Given the description of an element on the screen output the (x, y) to click on. 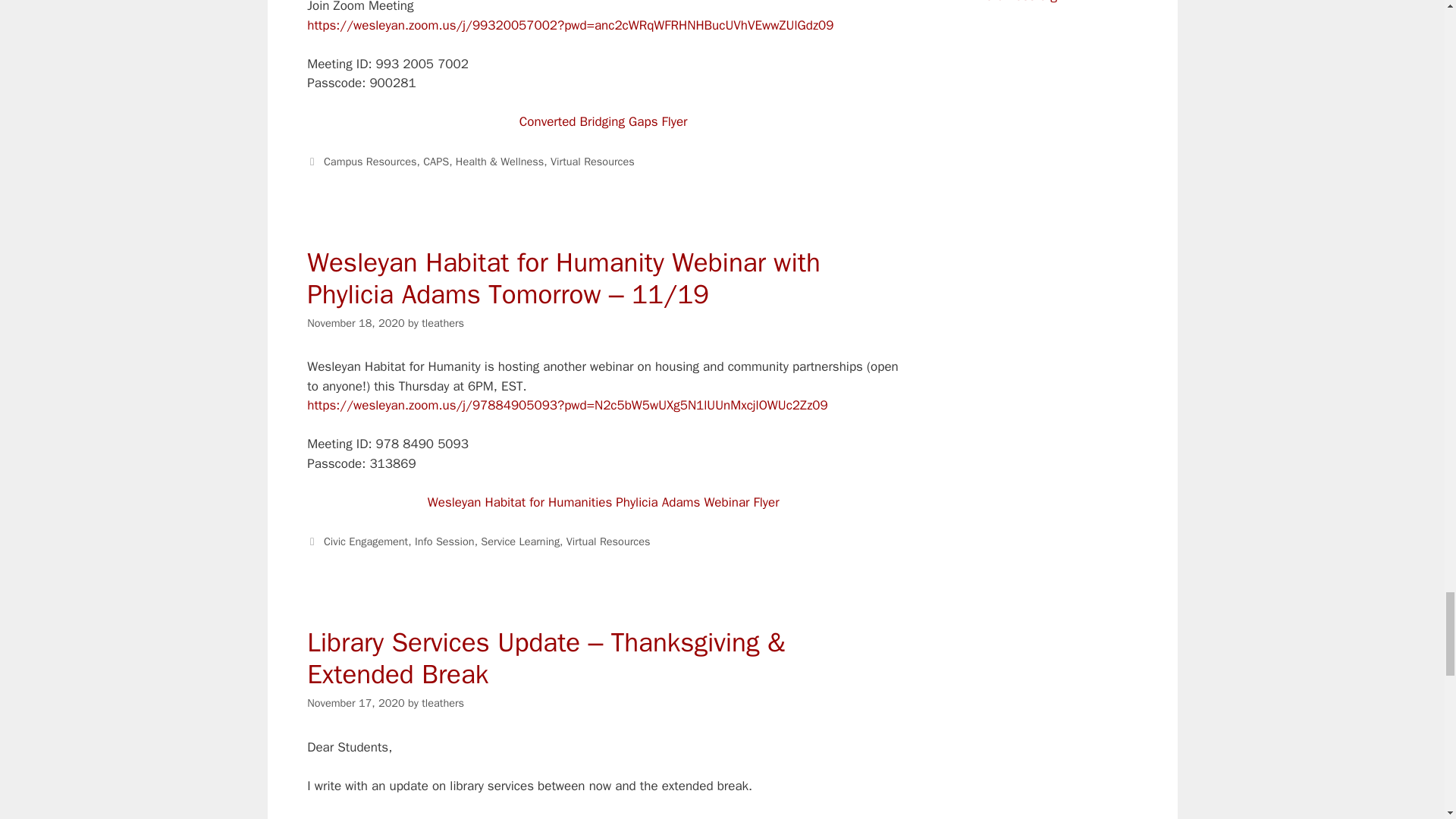
View all posts by tleathers (443, 703)
View all posts by tleathers (443, 323)
